Given the description of an element on the screen output the (x, y) to click on. 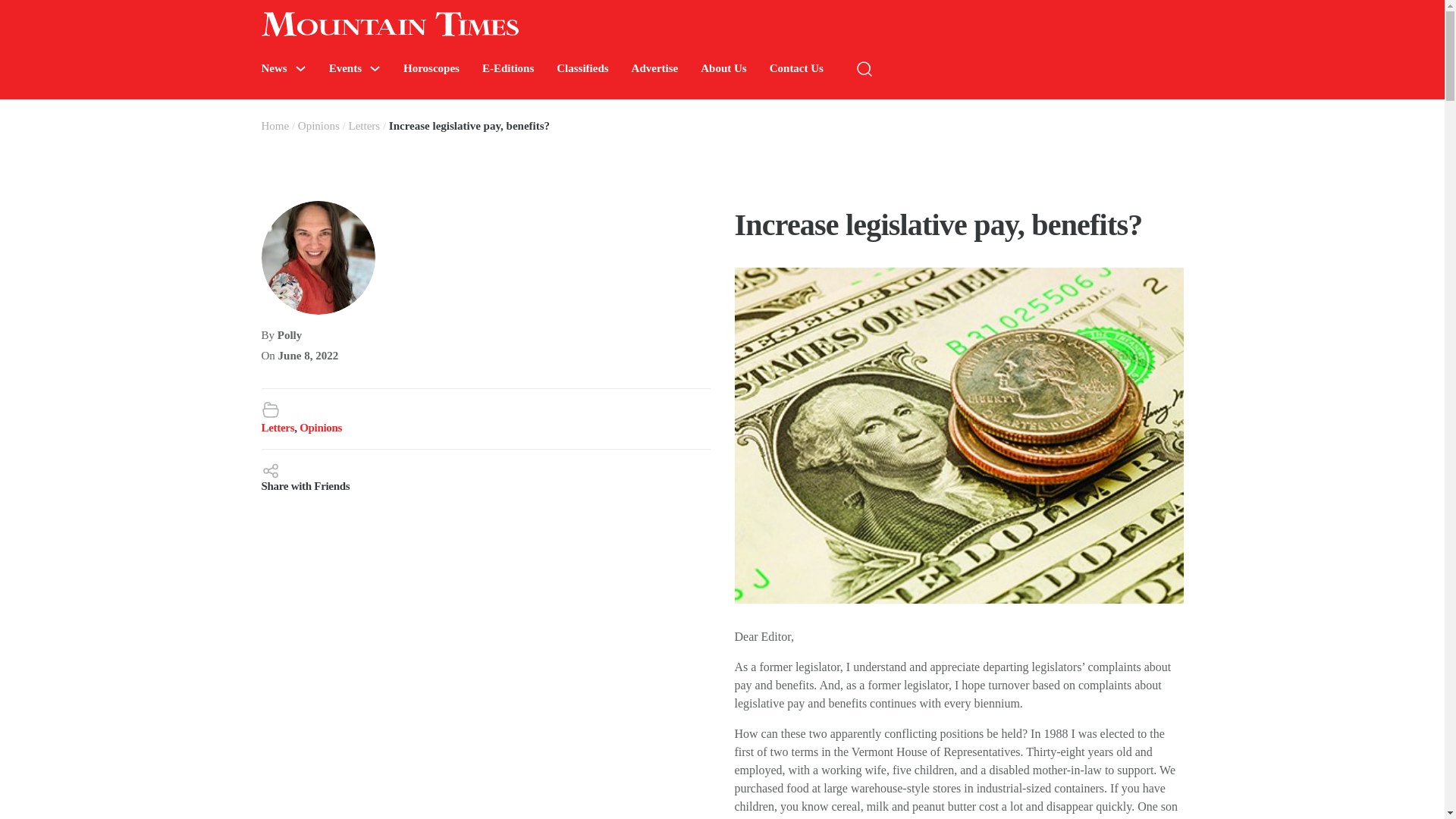
Letters (364, 125)
Home (274, 125)
Polly (290, 335)
Letters (277, 427)
Events (345, 67)
E-Editions (507, 67)
Advertise (654, 67)
Horoscopes (431, 67)
Search (1274, 114)
Classifieds (582, 67)
